Given the description of an element on the screen output the (x, y) to click on. 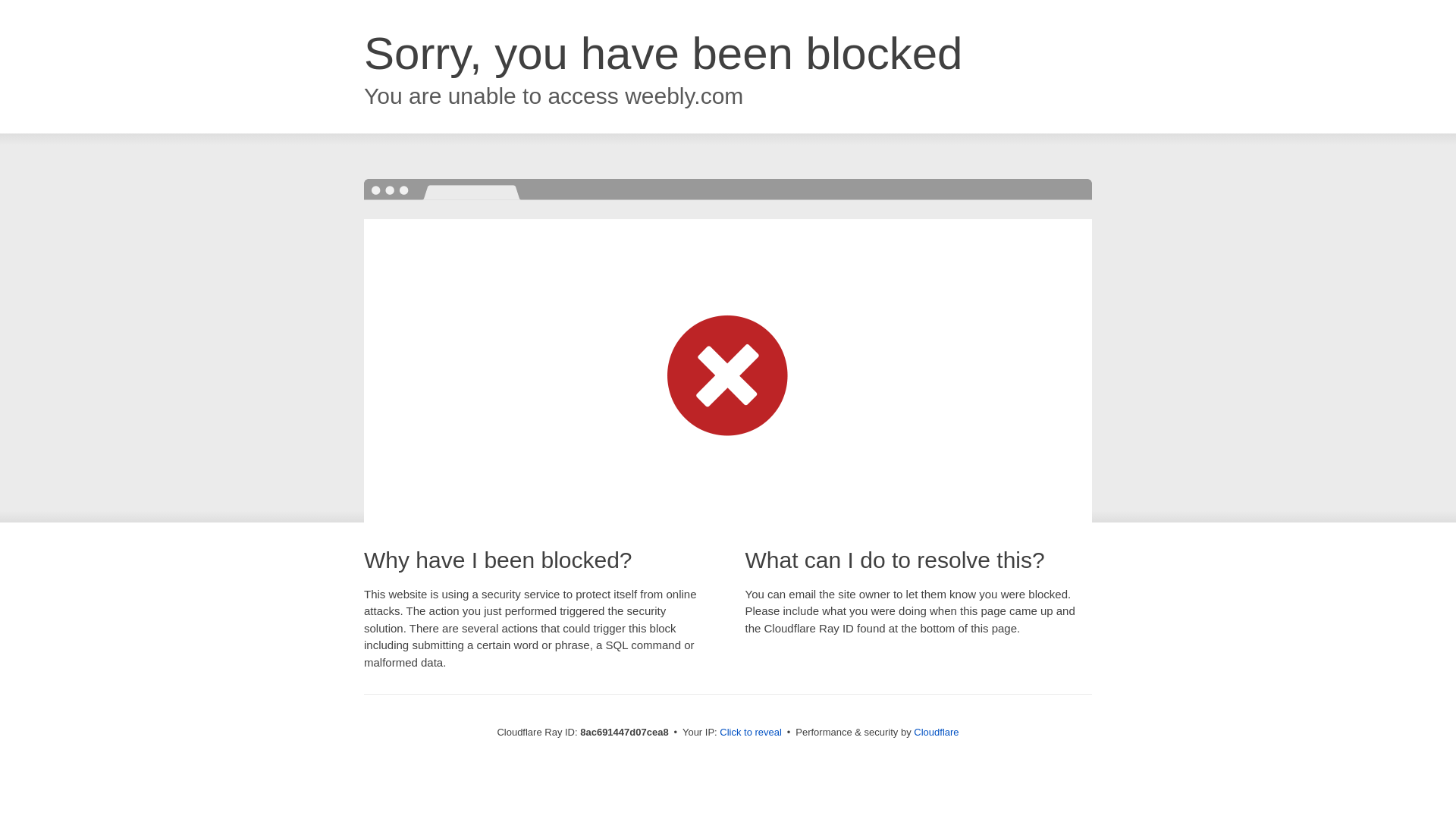
Cloudflare (936, 731)
Click to reveal (750, 732)
